Given the description of an element on the screen output the (x, y) to click on. 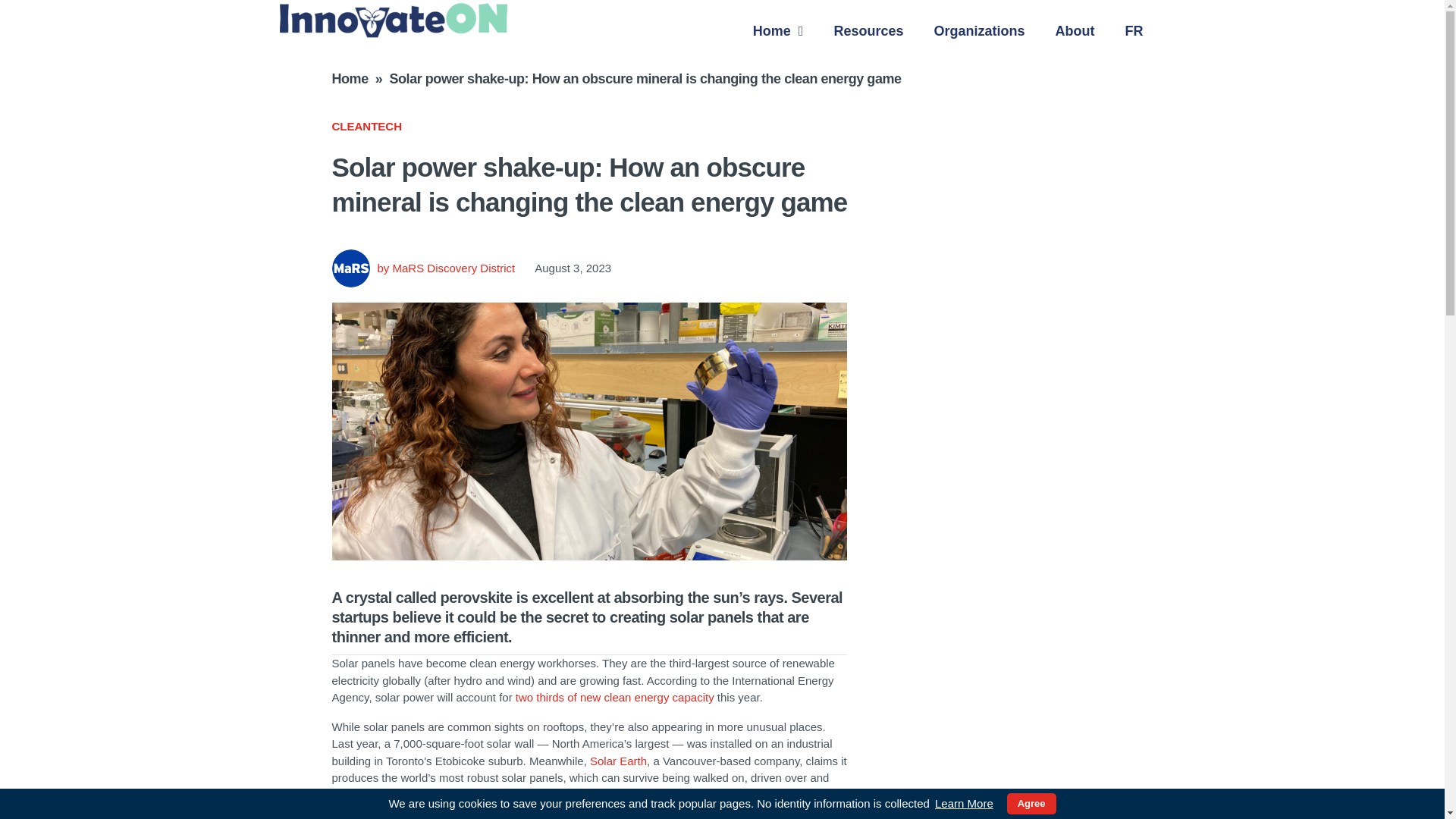
Organizations (979, 30)
Agree (1032, 803)
About (1075, 30)
Resources (868, 30)
FR (1133, 30)
Learn More (964, 803)
Home (778, 30)
Home (349, 78)
